Given the description of an element on the screen output the (x, y) to click on. 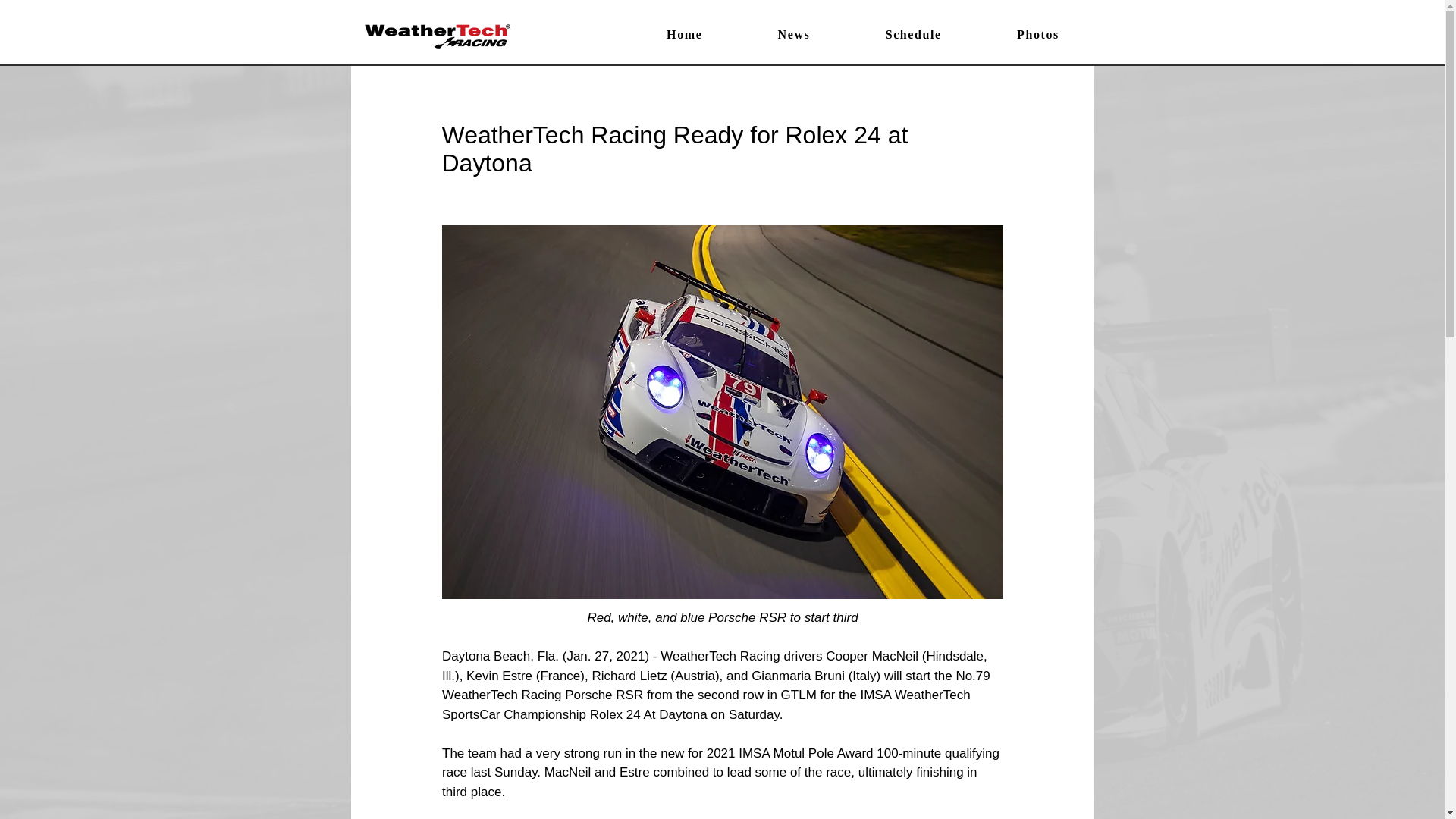
Photos (1037, 35)
Home (684, 35)
Schedule (912, 35)
News (793, 35)
